Given the description of an element on the screen output the (x, y) to click on. 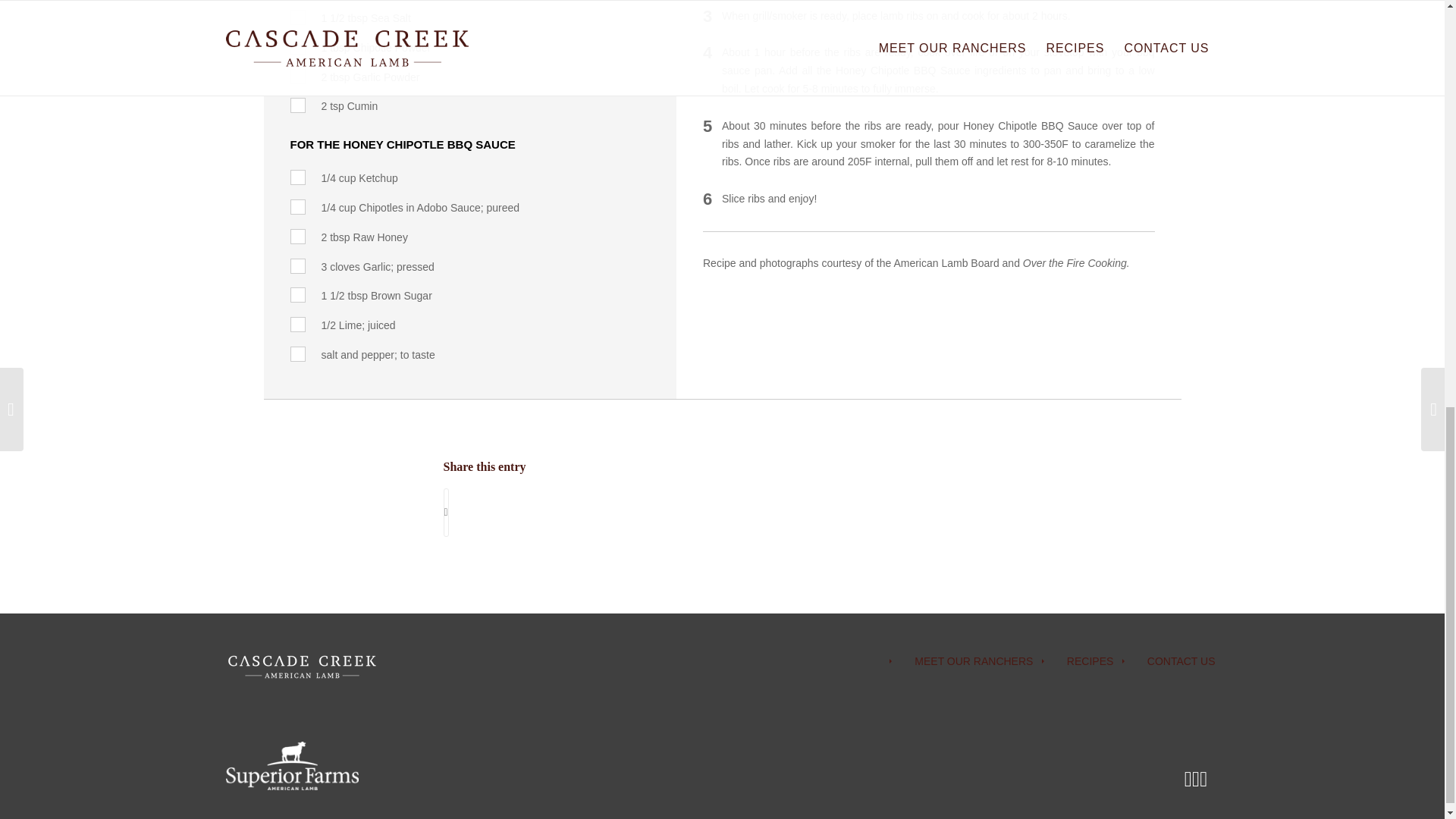
CONTACT US (1169, 661)
MEET OUR RANCHERS (961, 661)
RECIPES (1078, 661)
